Given the description of an element on the screen output the (x, y) to click on. 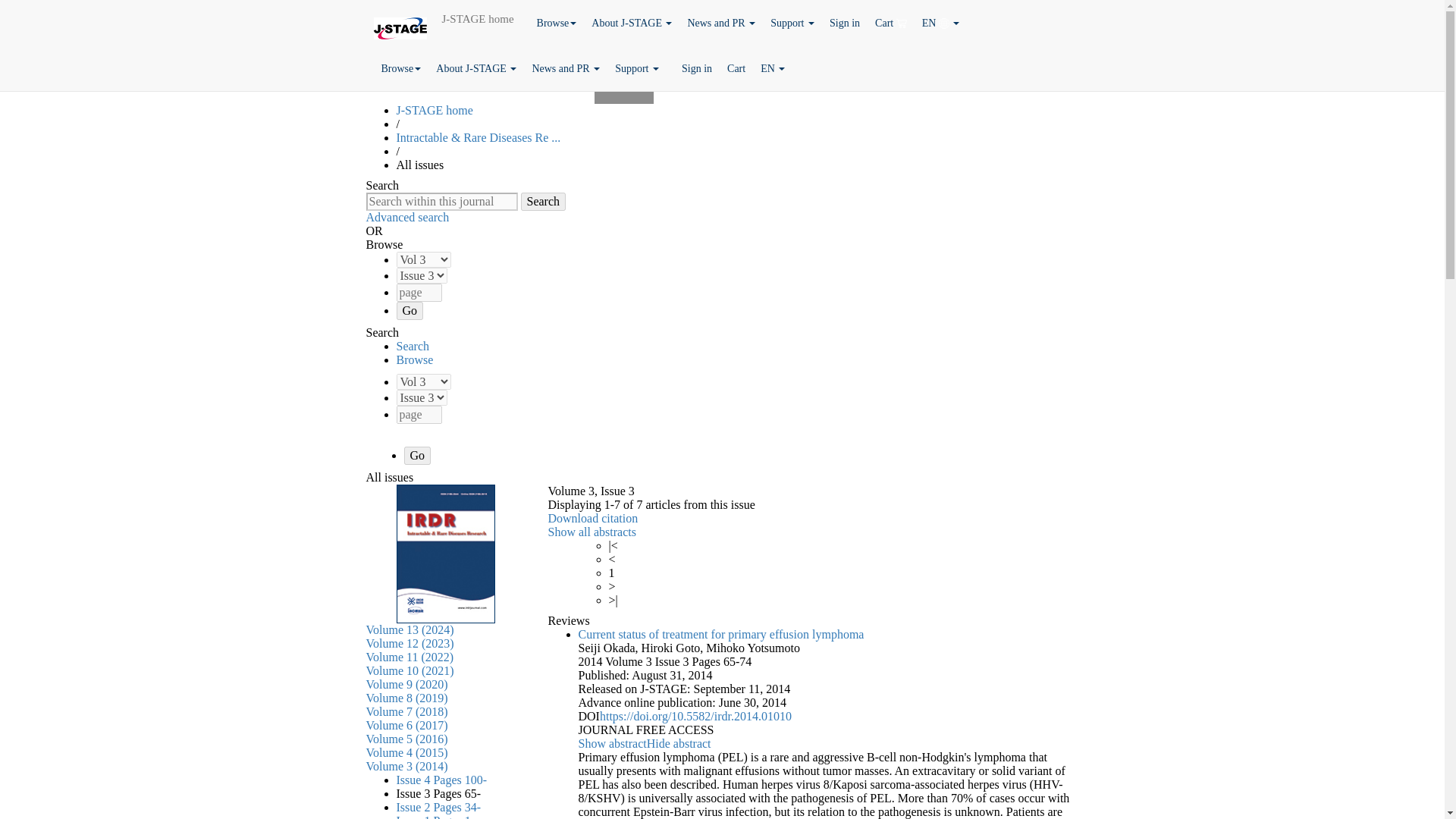
Browse (557, 22)
About J-STAGE (631, 22)
Browse (400, 67)
Search (542, 201)
J-STAGE home (477, 18)
Search (542, 201)
Go (409, 311)
Go (416, 454)
Support (792, 22)
About J-STAGE (476, 67)
